Given the description of an element on the screen output the (x, y) to click on. 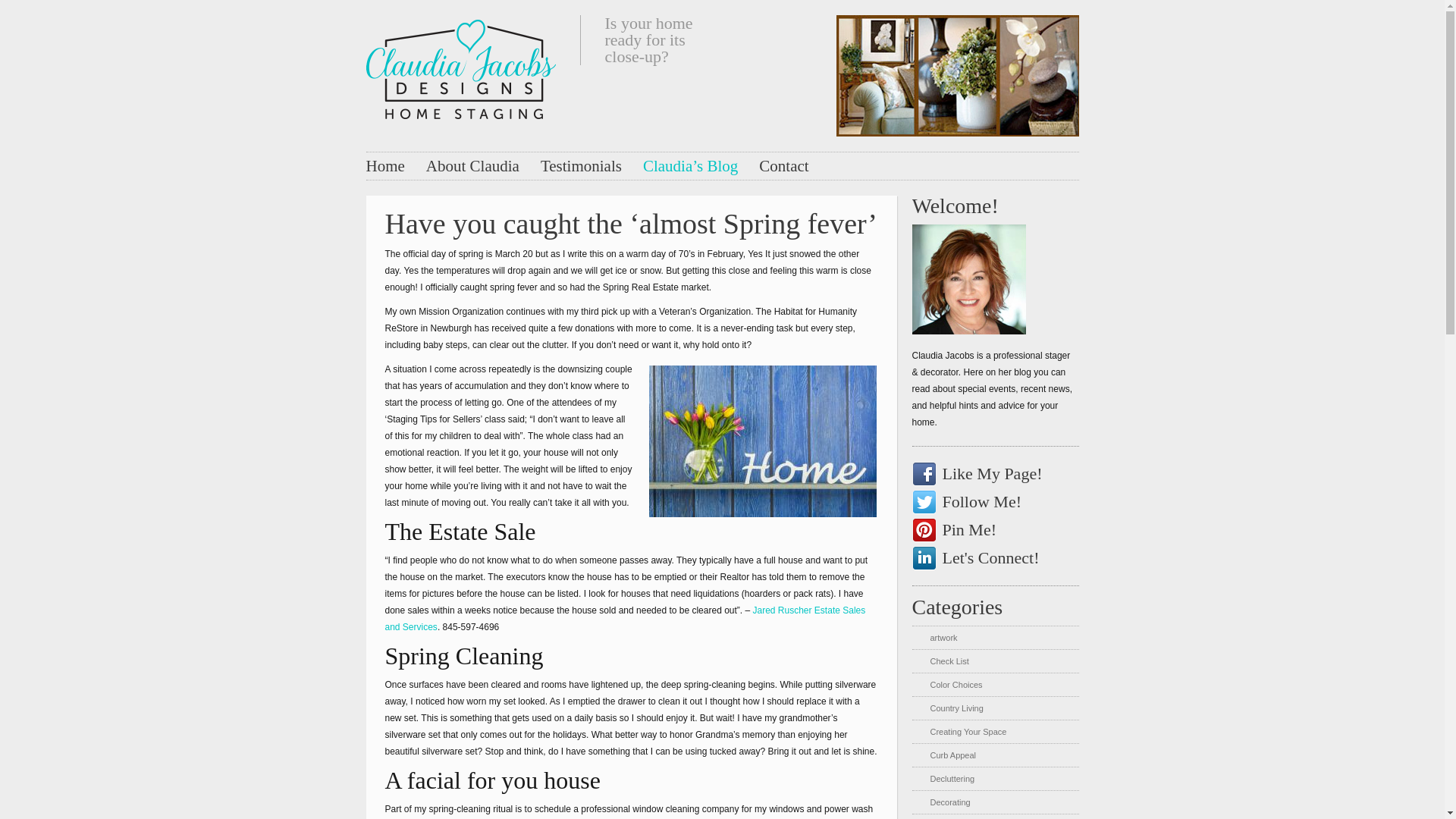
Pin Me! (976, 529)
artwork (943, 637)
Like My Page! (976, 473)
Let's Connect! (976, 558)
Like My Page! (976, 473)
Curb Appeal (952, 755)
Creating Your Space (968, 731)
Follow Me! (976, 501)
Check List (949, 660)
Contact (783, 166)
Jared Ruscher Estate Sales and Services (625, 618)
Country Living (956, 707)
Let's Connect! (976, 558)
Testimonials (580, 166)
About Claudia (472, 166)
